Given the description of an element on the screen output the (x, y) to click on. 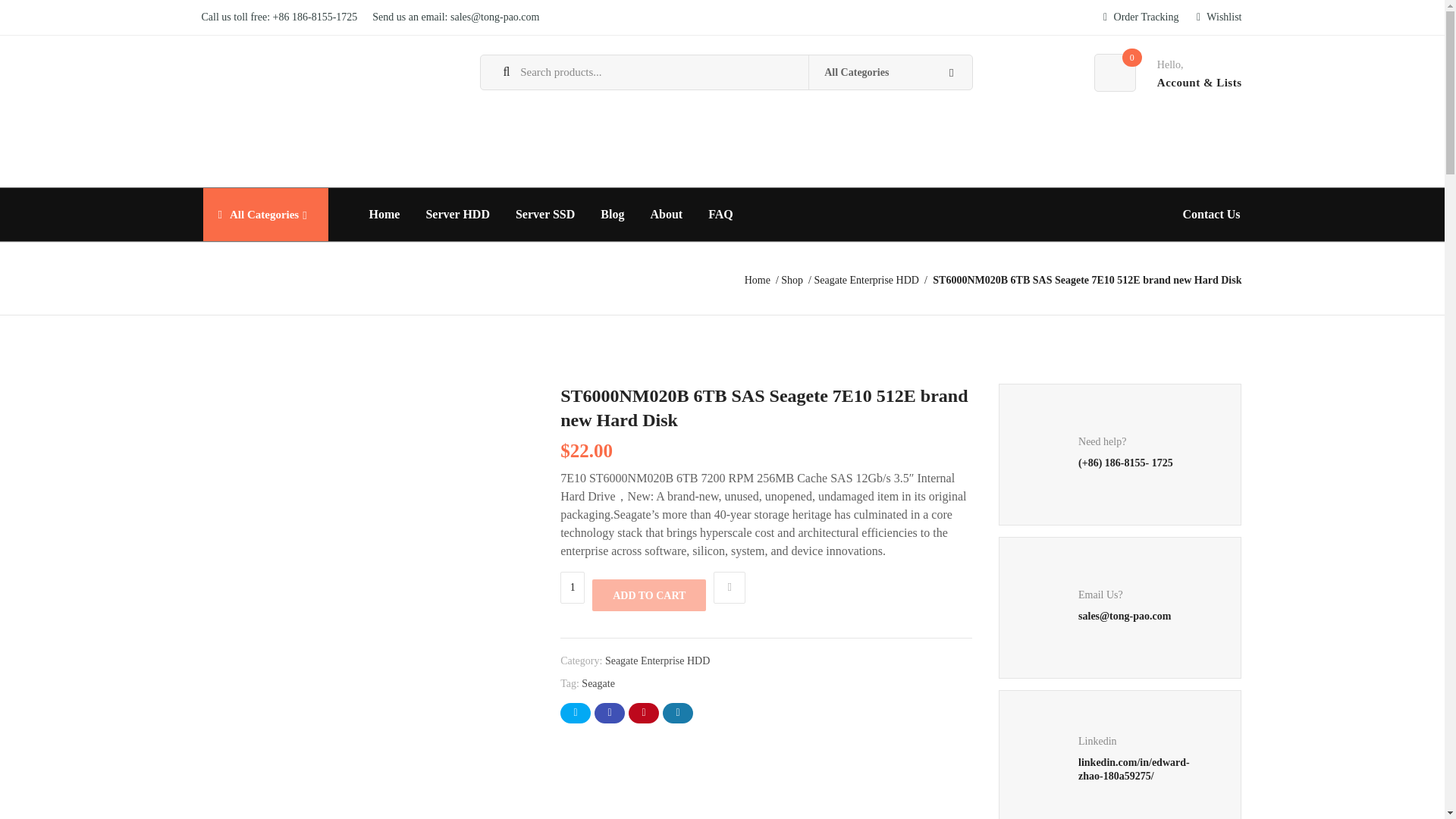
Server HDD (457, 214)
Home (761, 279)
Seagate Enterprise HDD (869, 279)
Contact Us (1210, 214)
FAQ (720, 214)
Home (384, 214)
About (666, 214)
Wishlist (1218, 17)
Blog (612, 214)
Order Tracking (1141, 17)
